Given the description of an element on the screen output the (x, y) to click on. 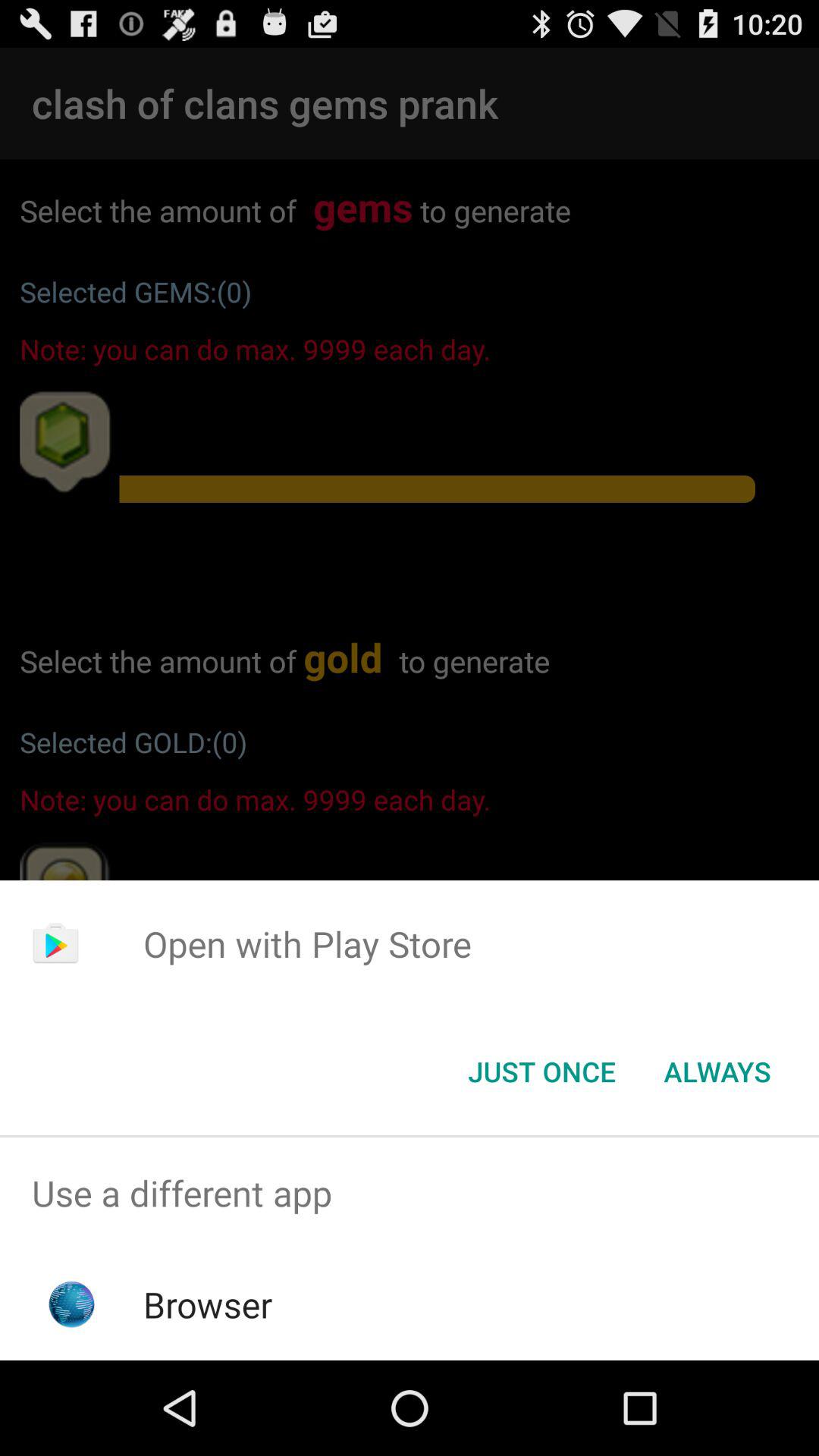
jump to the always button (717, 1071)
